Given the description of an element on the screen output the (x, y) to click on. 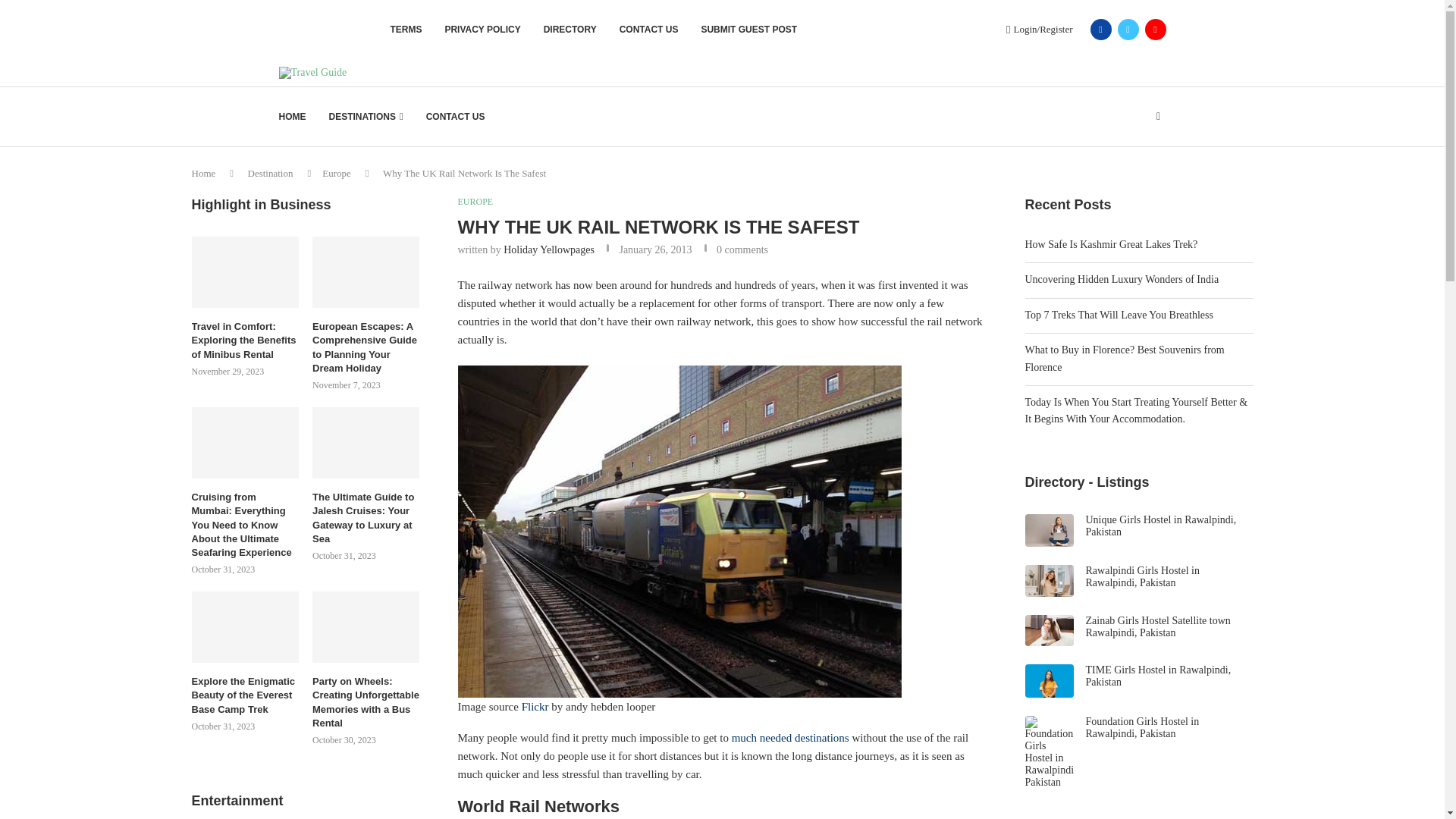
DIRECTORY (569, 29)
Rawalpindi Girls Hostel in Rawalpindi, Pakistan (1142, 576)
DESTINATIONS (366, 116)
Unique Girls Hostel in Rawalpindi, Pakistan (1161, 525)
PRIVACY POLICY (481, 29)
CONTACT US (649, 29)
TIME Girls Hostel in Rawalpindi, Pakistan (1158, 675)
SUBMIT GUEST POST (748, 29)
Zainab Girls Hostel Satellite town Rawalpindi, Pakistan (1158, 626)
